Given the description of an element on the screen output the (x, y) to click on. 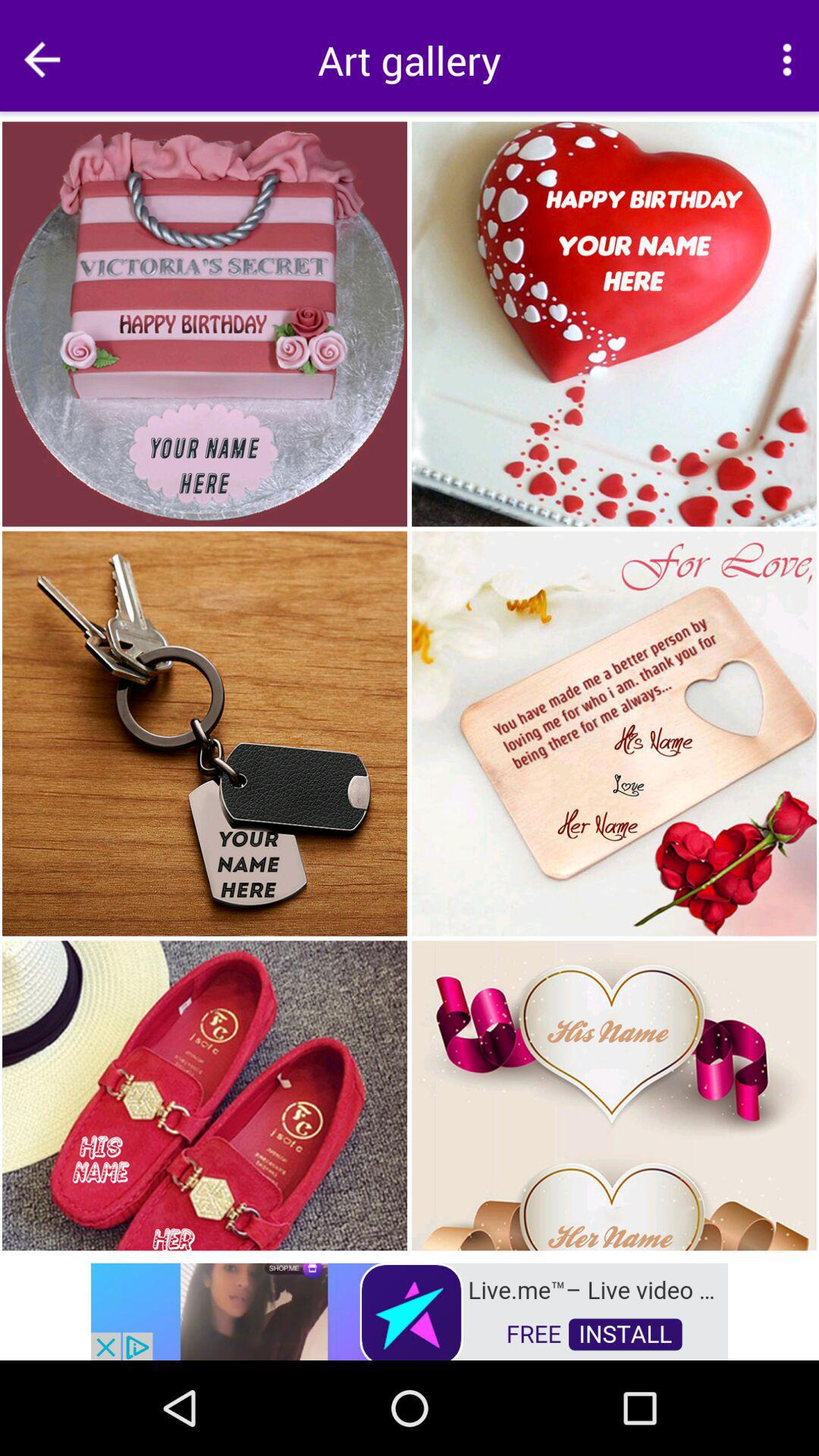
open advertisement (409, 1310)
